Given the description of an element on the screen output the (x, y) to click on. 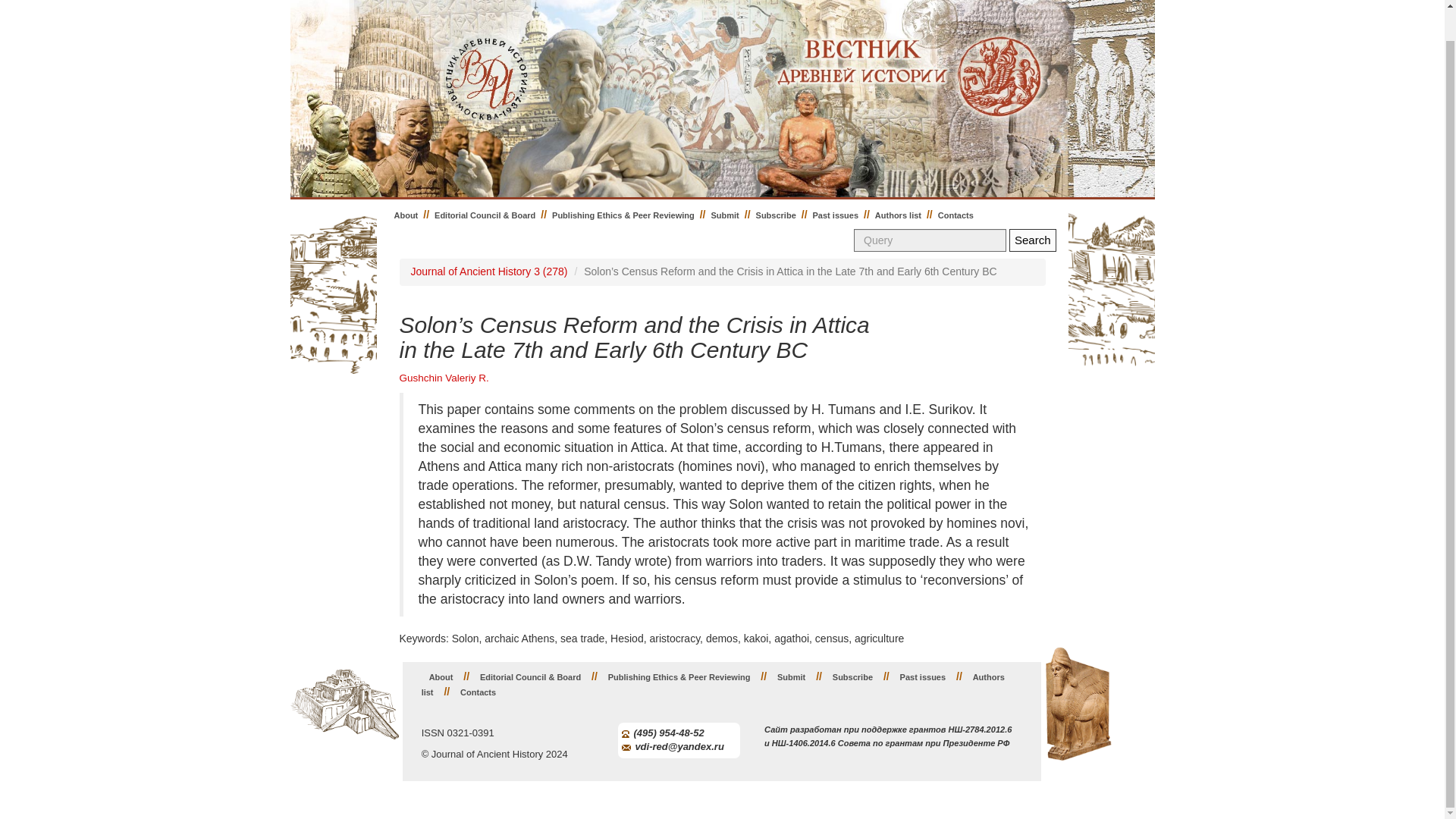
Authors list (897, 215)
Contacts (955, 215)
Search (1033, 239)
Submit (791, 676)
Authors list (713, 684)
Search (1033, 239)
About (405, 215)
Gushchin Valeriy R. (442, 378)
Past issues (836, 215)
Submit (724, 215)
